Given the description of an element on the screen output the (x, y) to click on. 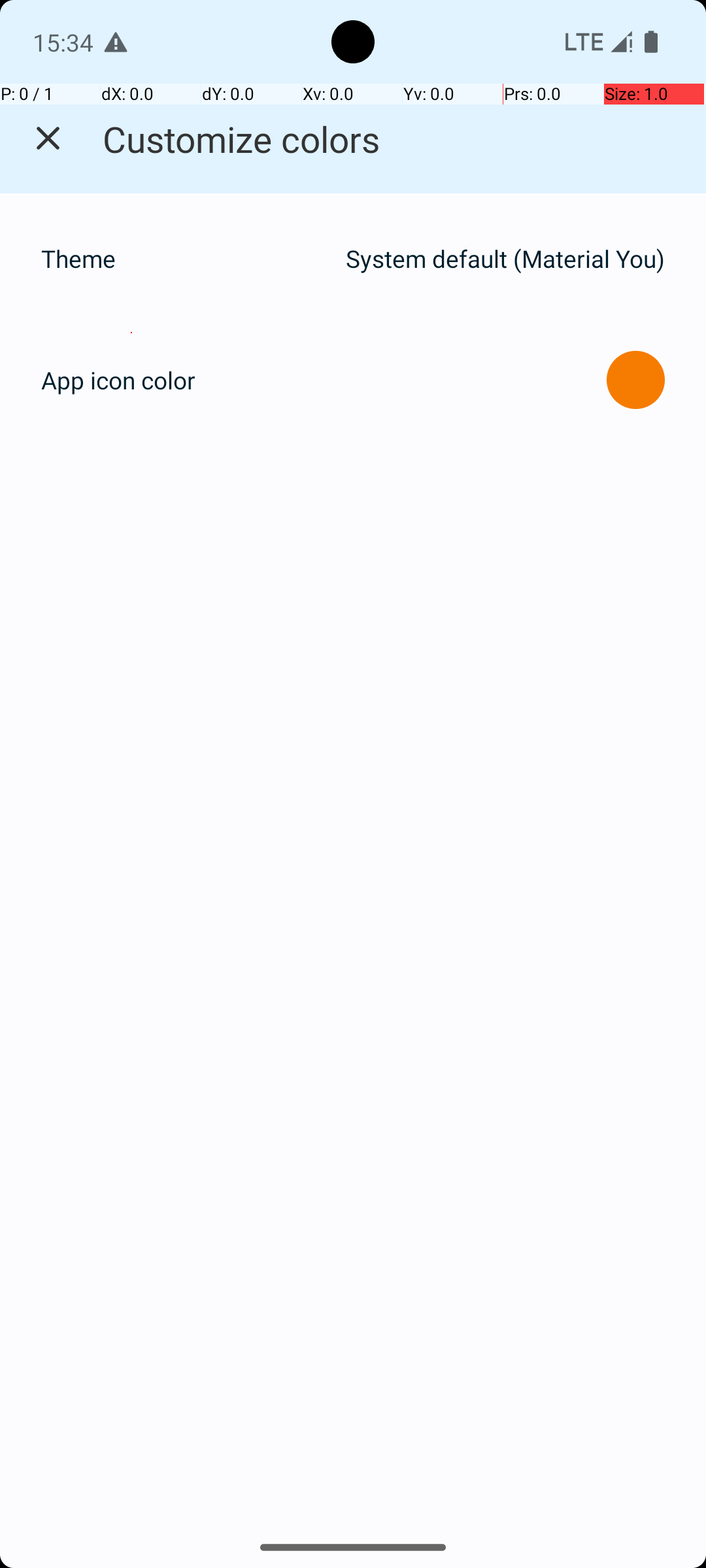
Customize colors Element type: android.widget.TextView (241, 138)
System default (Material You) Element type: android.widget.TextView (504, 258)
App icon color Element type: android.widget.TextView (118, 379)
